Given the description of an element on the screen output the (x, y) to click on. 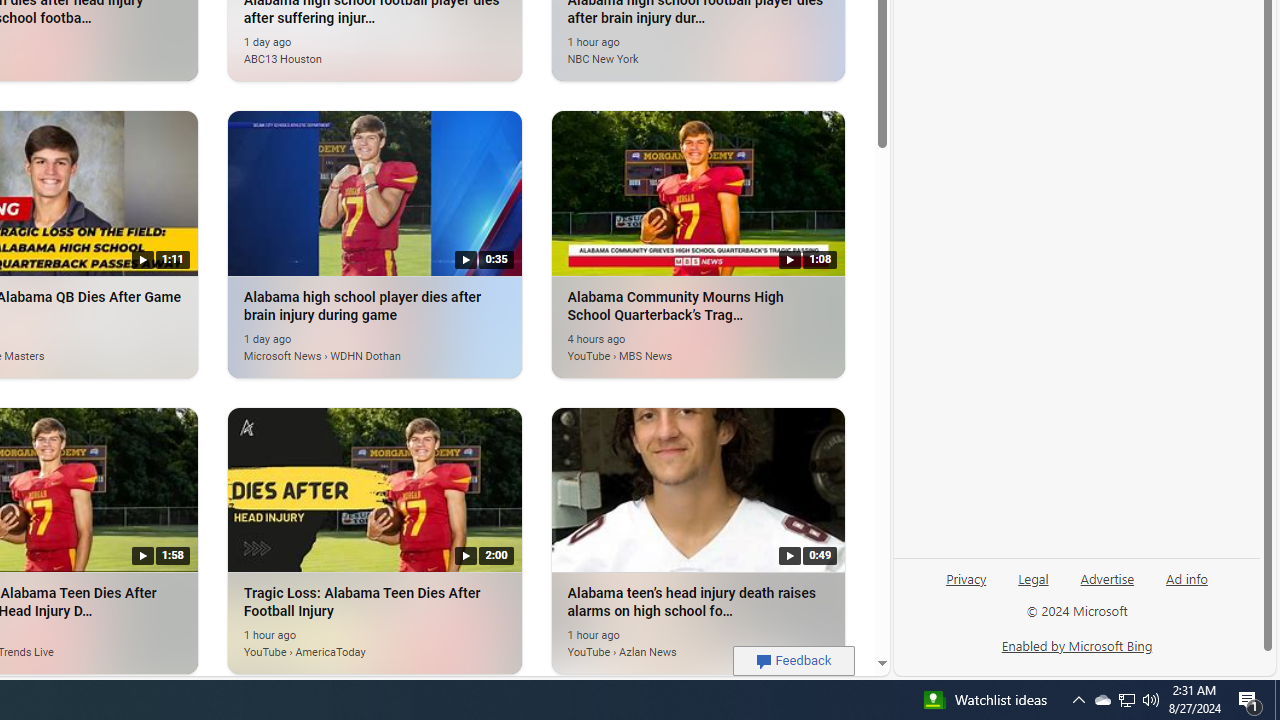
Tragic Loss: Alabama Teen Dies After Football Injury (374, 488)
